Given the description of an element on the screen output the (x, y) to click on. 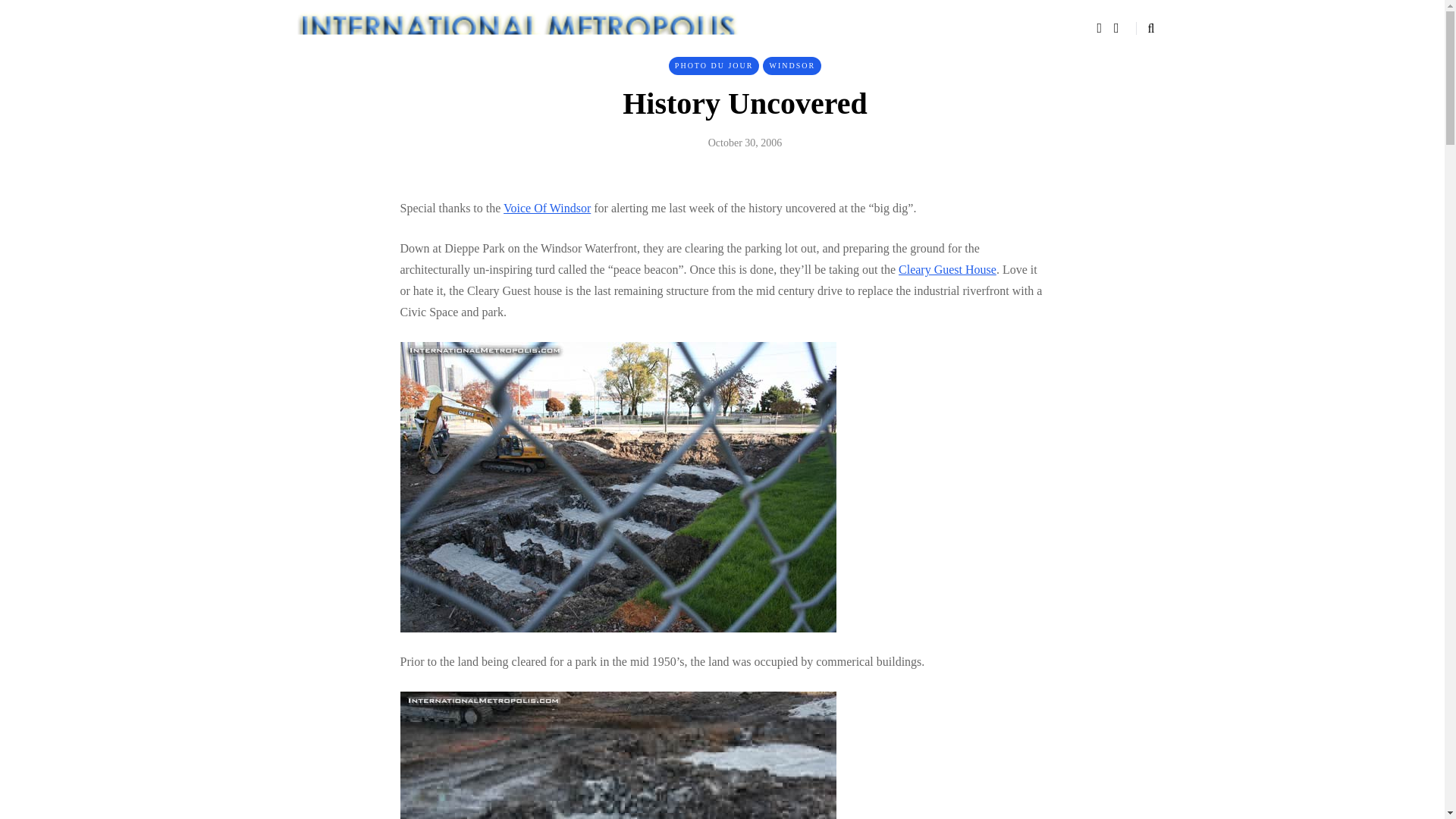
PHOTO DU JOUR (714, 65)
Cleary Guest House (946, 269)
Voice Of Windsor (547, 207)
Search (43, 15)
WINDSOR (791, 65)
